Given the description of an element on the screen output the (x, y) to click on. 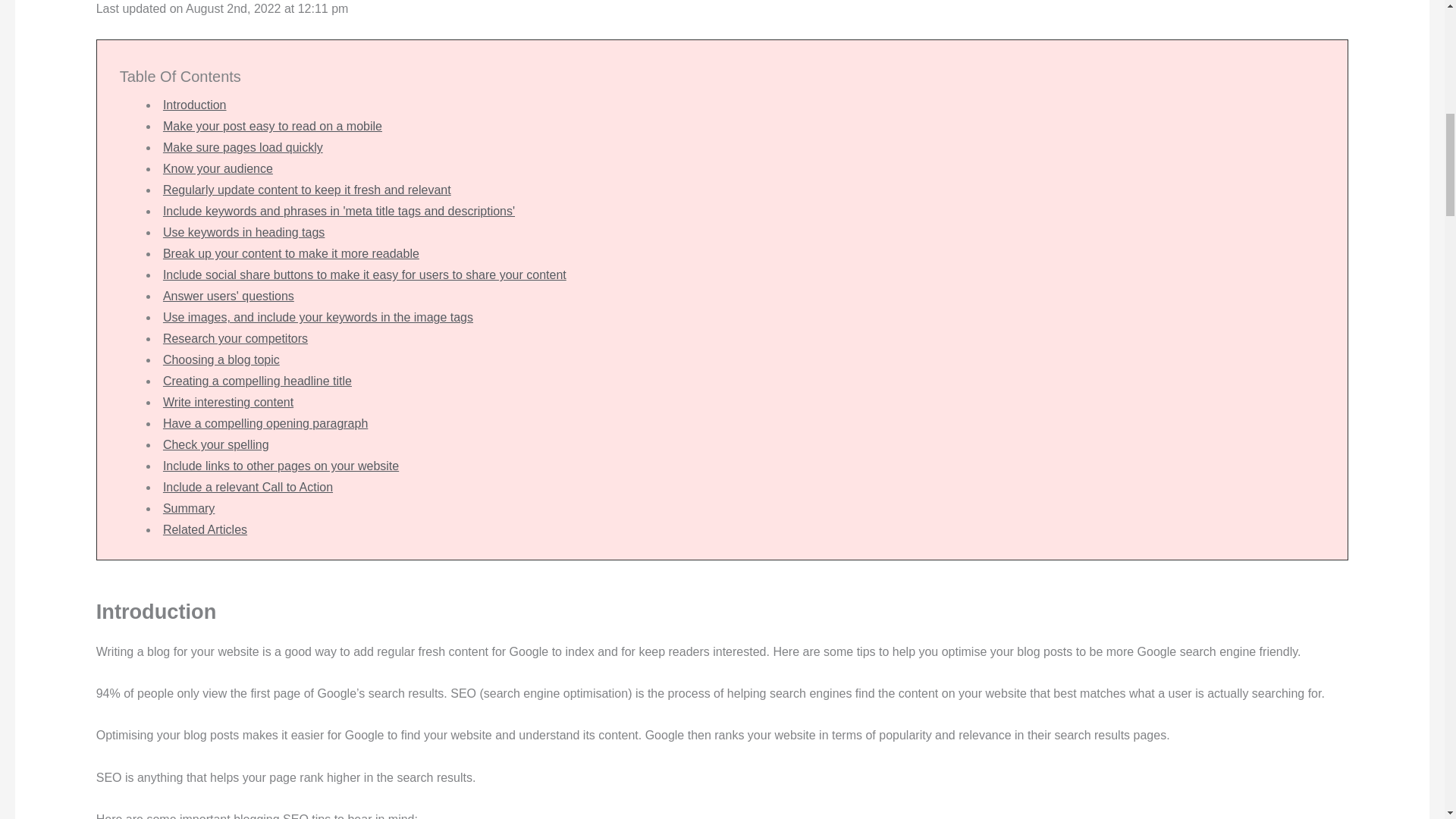
Break up your content to make it more readable (291, 253)
Introduction (195, 104)
Use images, and include your keywords in the image tags (318, 317)
Choosing a blog topic (221, 359)
Make sure pages load quickly (243, 146)
Make your post easy to read on a mobile (272, 125)
Research your competitors (235, 338)
Know your audience (218, 168)
